Given the description of an element on the screen output the (x, y) to click on. 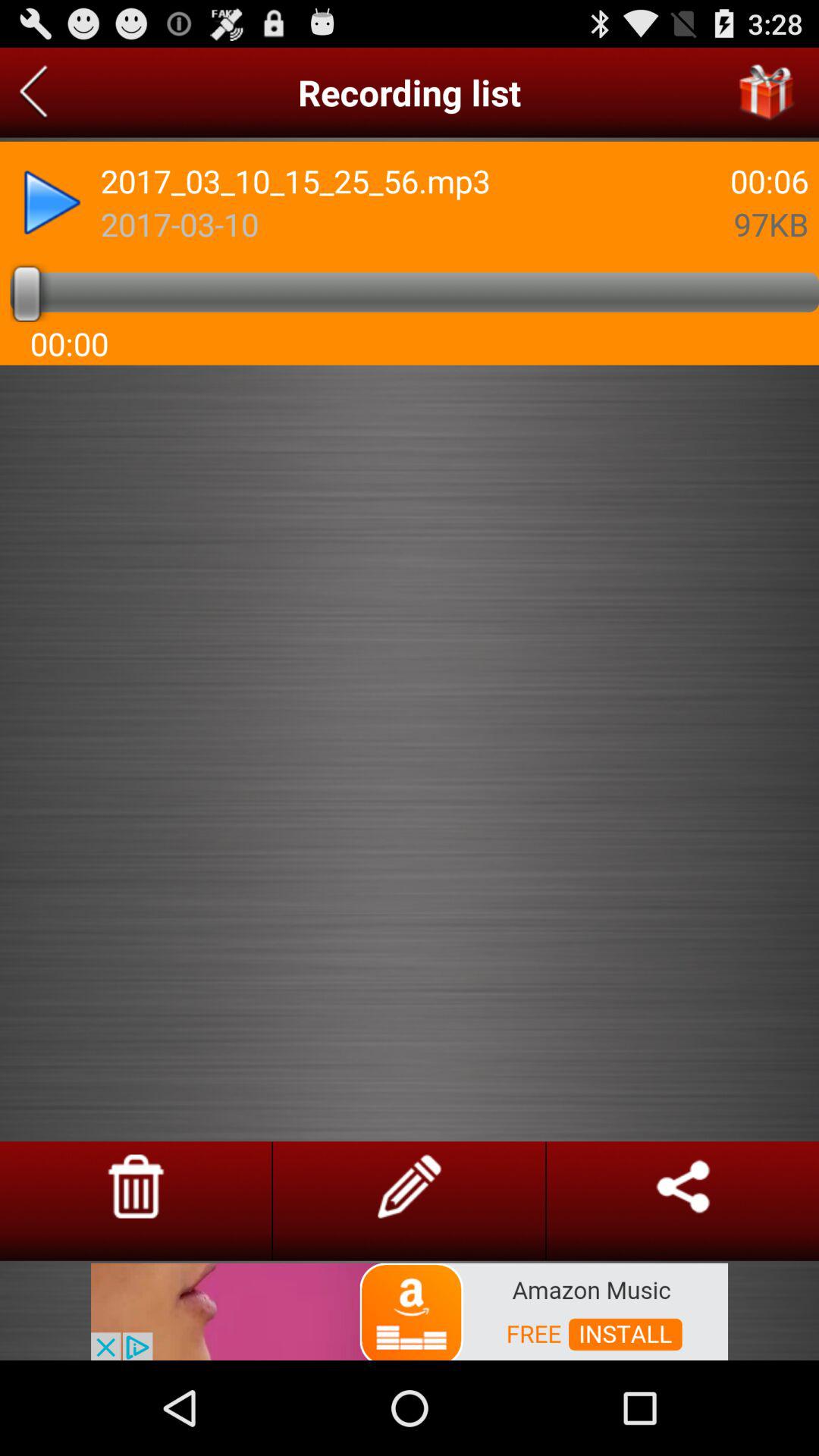
forward (52, 202)
